Given the description of an element on the screen output the (x, y) to click on. 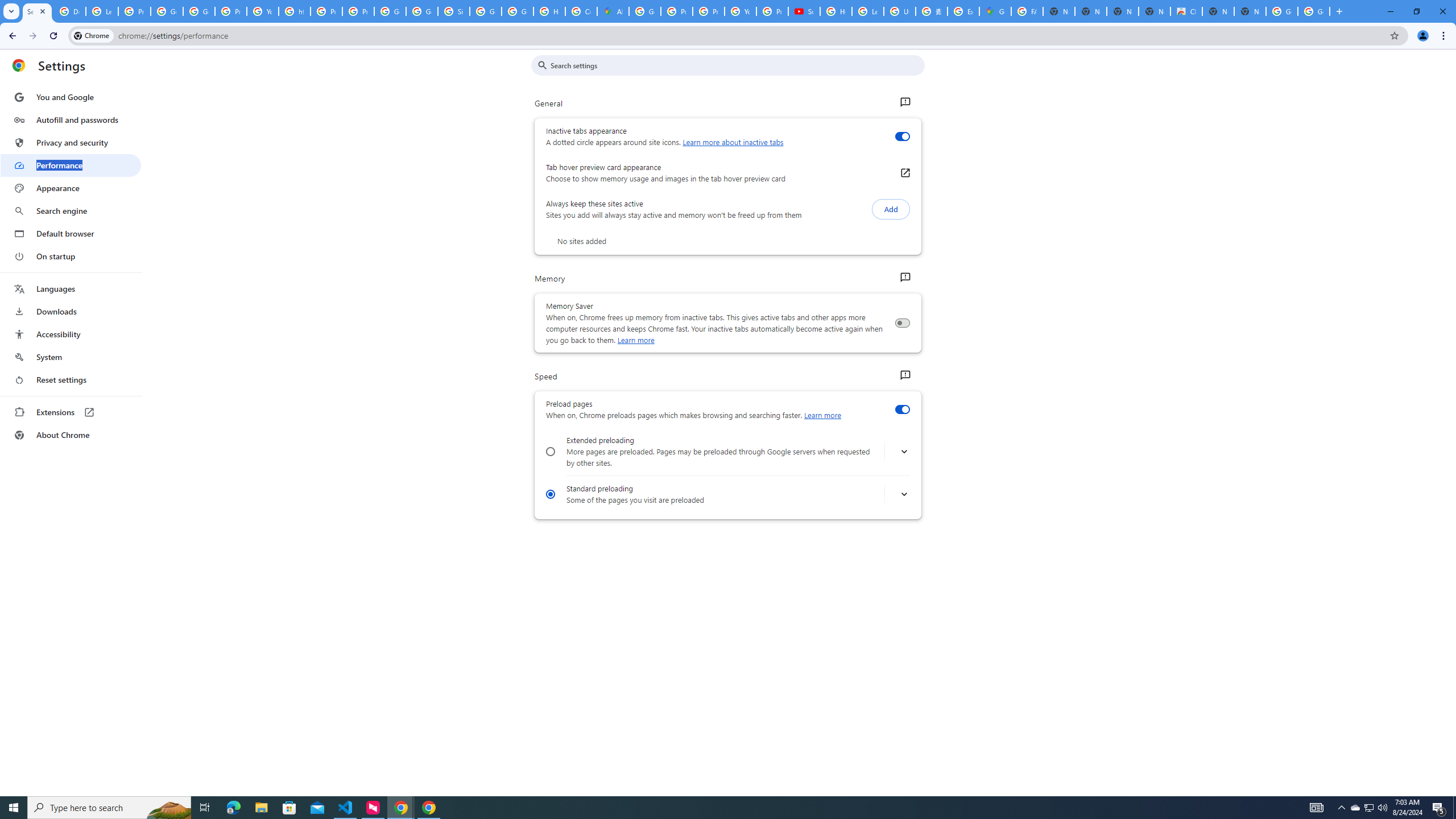
Privacy Help Center - Policies Help (676, 11)
Downloads (70, 311)
How Chrome protects your passwords - Google Chrome Help (836, 11)
Privacy Help Center - Policies Help (326, 11)
 More info about turning on standard preloading (903, 494)
